Given the description of an element on the screen output the (x, y) to click on. 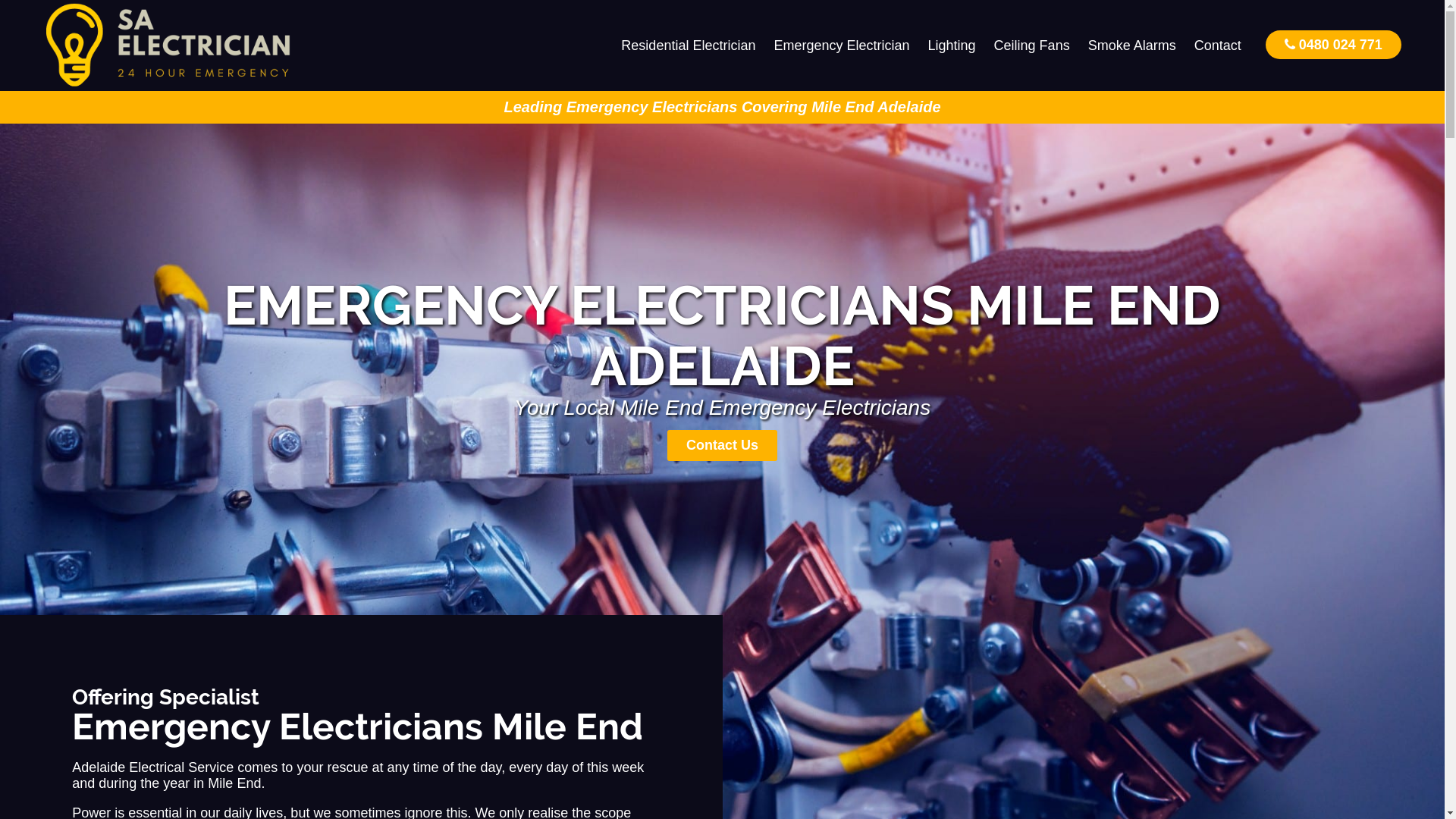
Lighting Element type: text (952, 45)
Contact Element type: text (1217, 45)
Emergency Electrician Element type: text (841, 45)
Ceiling Fans Element type: text (1032, 45)
0480 024 771 Element type: text (1333, 44)
Residential Electrician Element type: text (687, 45)
Contact Us Element type: text (722, 445)
Smoke Alarms Element type: text (1132, 45)
